Given the description of an element on the screen output the (x, y) to click on. 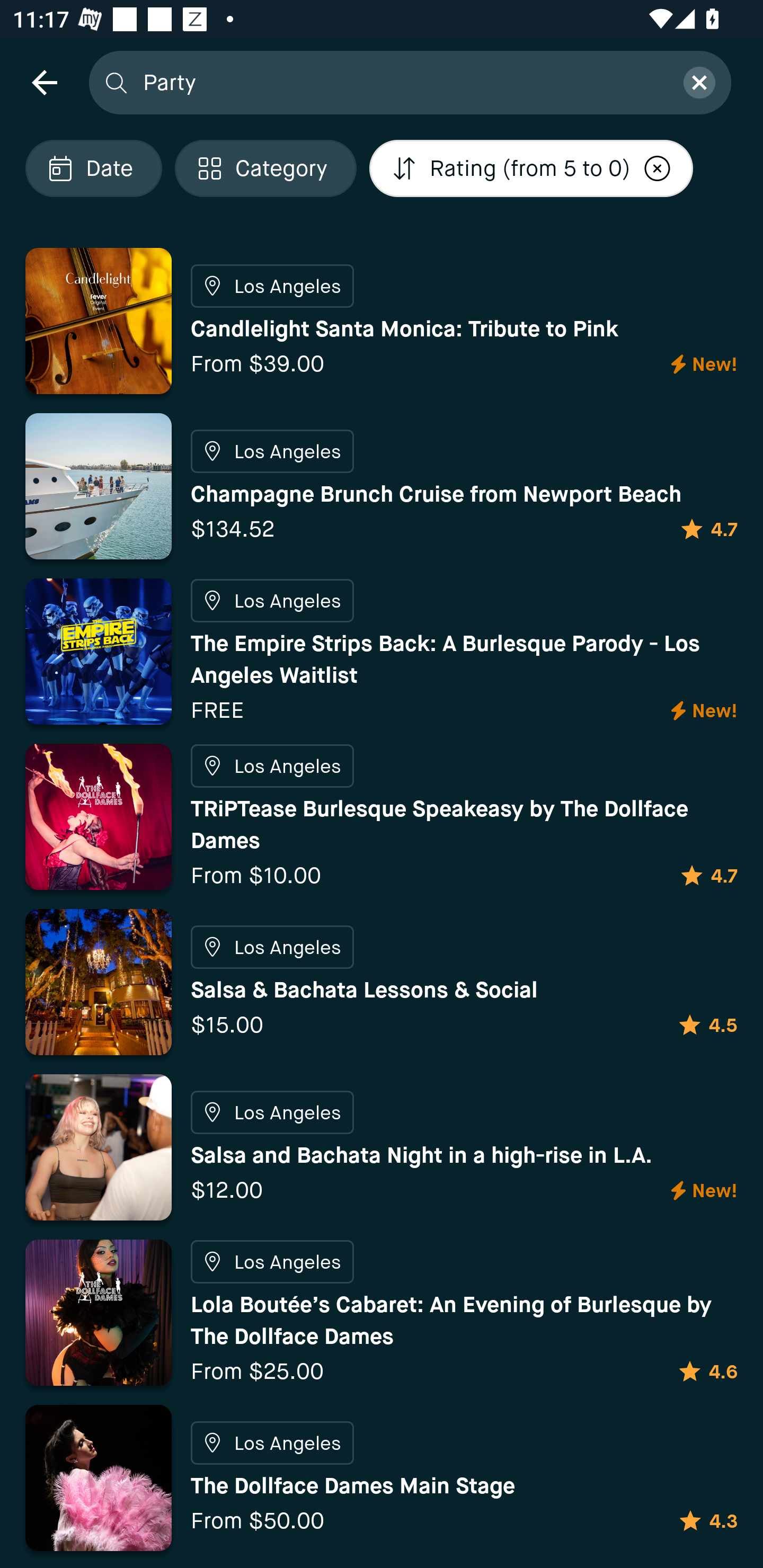
navigation icon (44, 81)
Party (402, 81)
Localized description Date (93, 168)
Localized description Category (265, 168)
Localized description (657, 168)
